Given the description of an element on the screen output the (x, y) to click on. 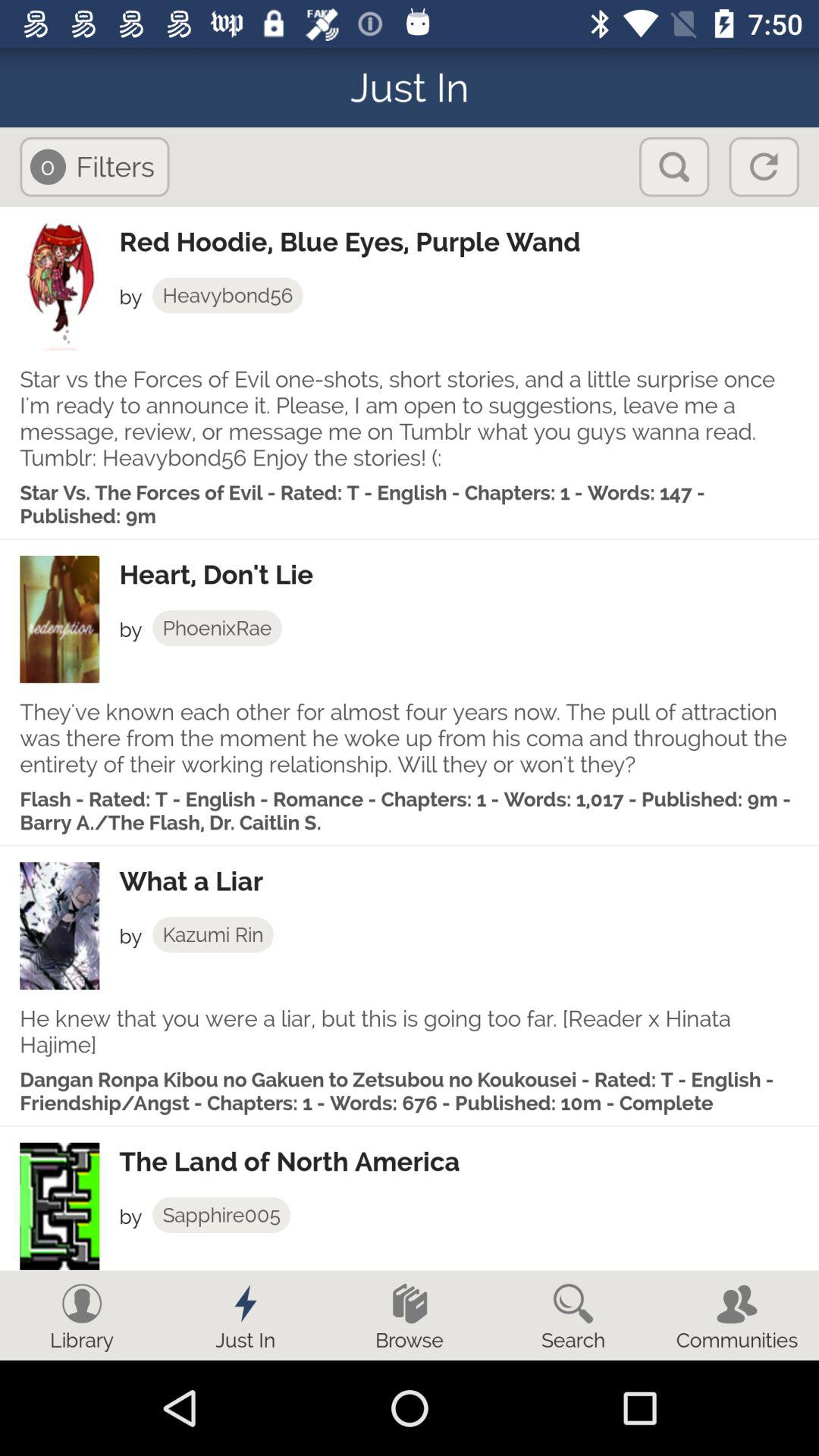
select red hoodie blue app (469, 241)
